Given the description of an element on the screen output the (x, y) to click on. 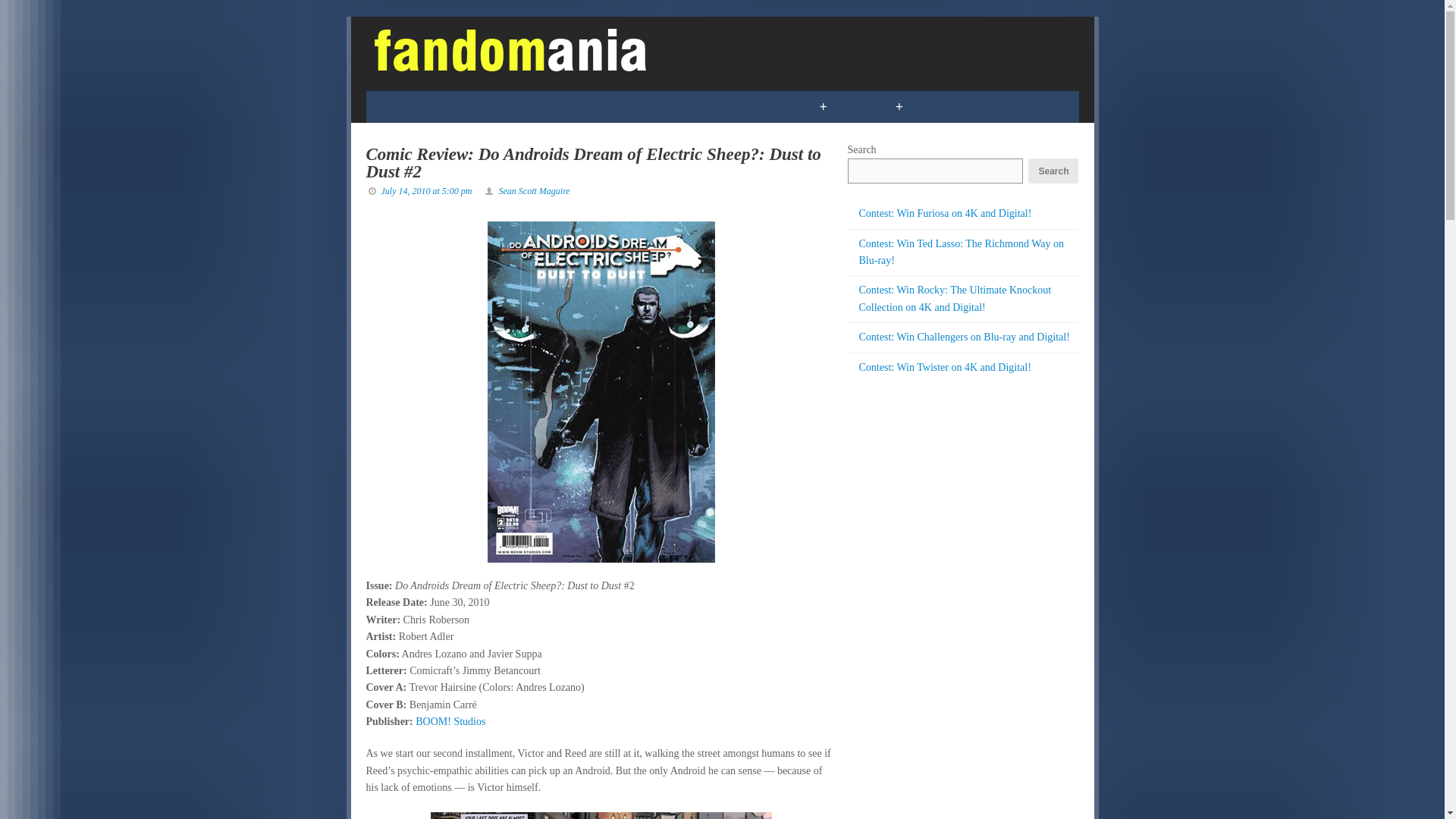
dadoesdust2-4 (600, 815)
BOOM! Studios (449, 721)
Music (676, 106)
TV (539, 106)
July 14, 2010 at 5:00 pm (425, 190)
Contests (757, 106)
Games (478, 106)
Search (1052, 170)
Posts by Sean Scott Maguire (533, 190)
About (1015, 106)
